Given the description of an element on the screen output the (x, y) to click on. 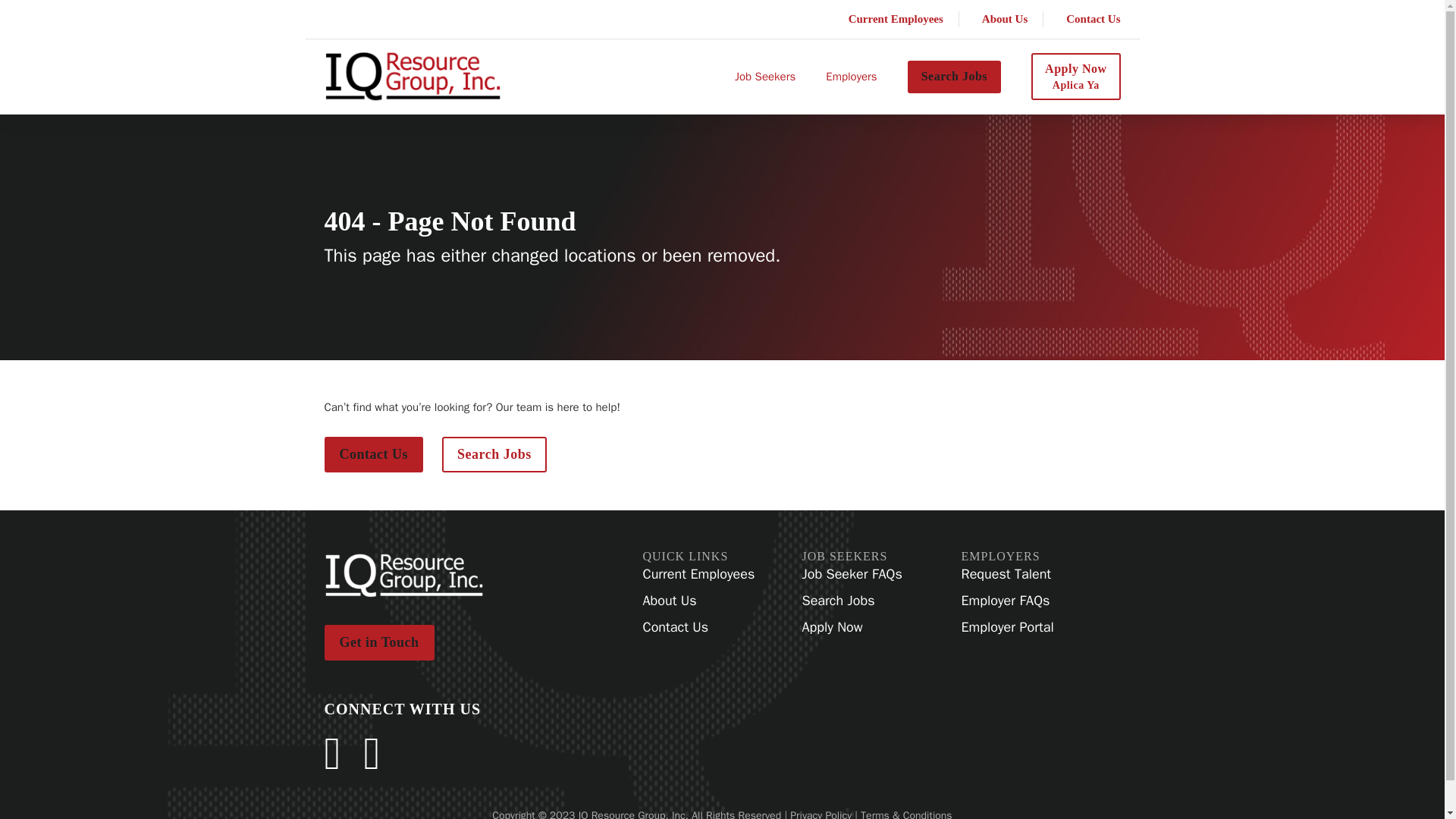
Search Jobs (852, 600)
Contact Us (699, 627)
Job Seeker FAQs (852, 574)
Request Talent (1007, 574)
Employer Portal (1007, 627)
Apply Now (852, 627)
Get in Touch (378, 642)
Employers (850, 76)
Contact Us (1092, 19)
Contact Us (373, 454)
Search Jobs (494, 454)
Search Jobs (1074, 76)
Job Seekers (954, 76)
About Us (764, 76)
